Given the description of an element on the screen output the (x, y) to click on. 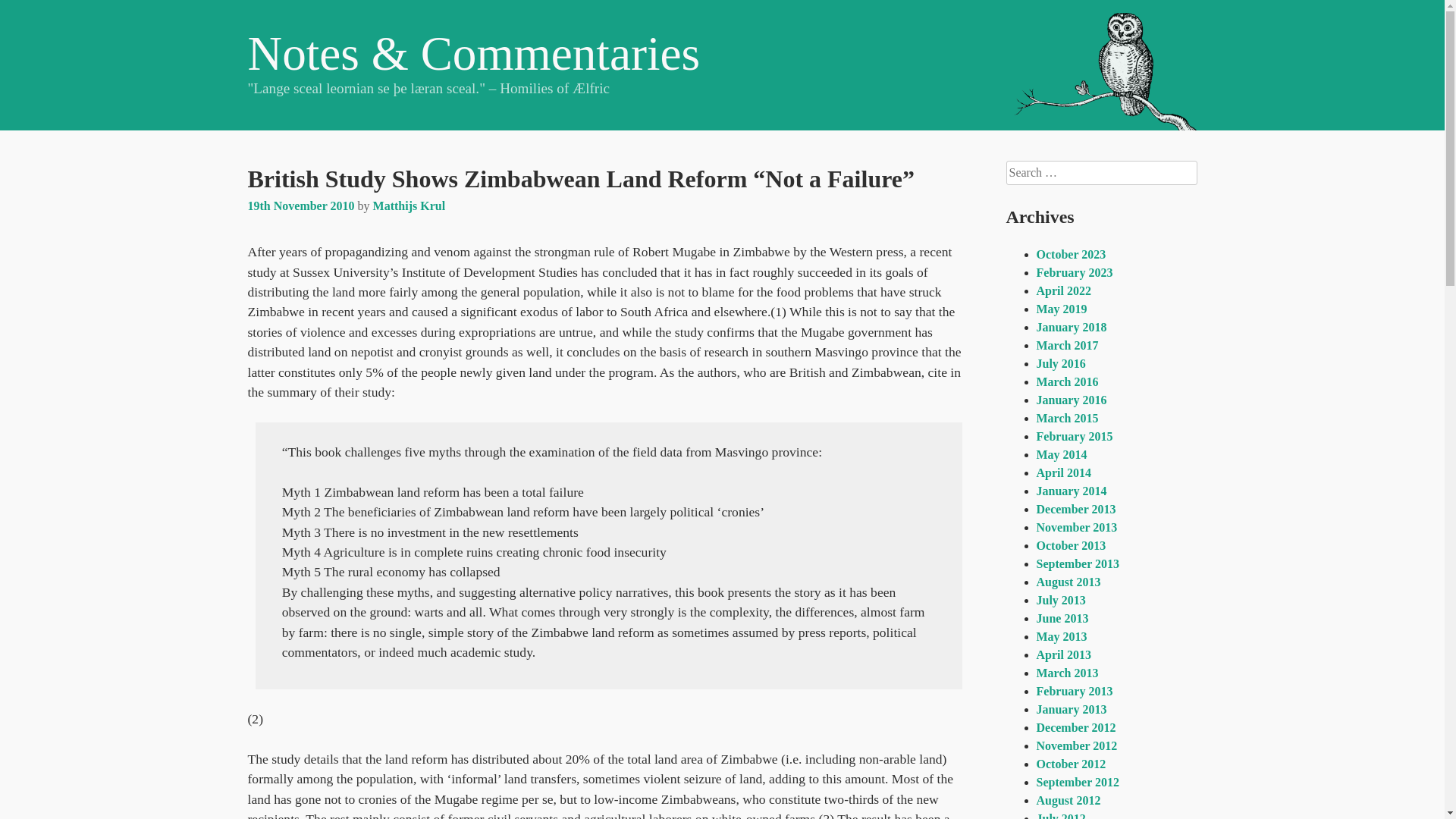
19th November 2010 (300, 205)
June 2013 (1061, 617)
March 2016 (1066, 381)
May 2019 (1060, 308)
January 2018 (1070, 327)
September 2013 (1076, 563)
July 2016 (1059, 363)
May 2013 (1060, 635)
April 2014 (1062, 472)
January 2016 (1070, 399)
Search (29, 14)
May 2014 (1060, 454)
October 2023 (1070, 254)
February 2015 (1073, 436)
Matthijs Krul (408, 205)
